Given the description of an element on the screen output the (x, y) to click on. 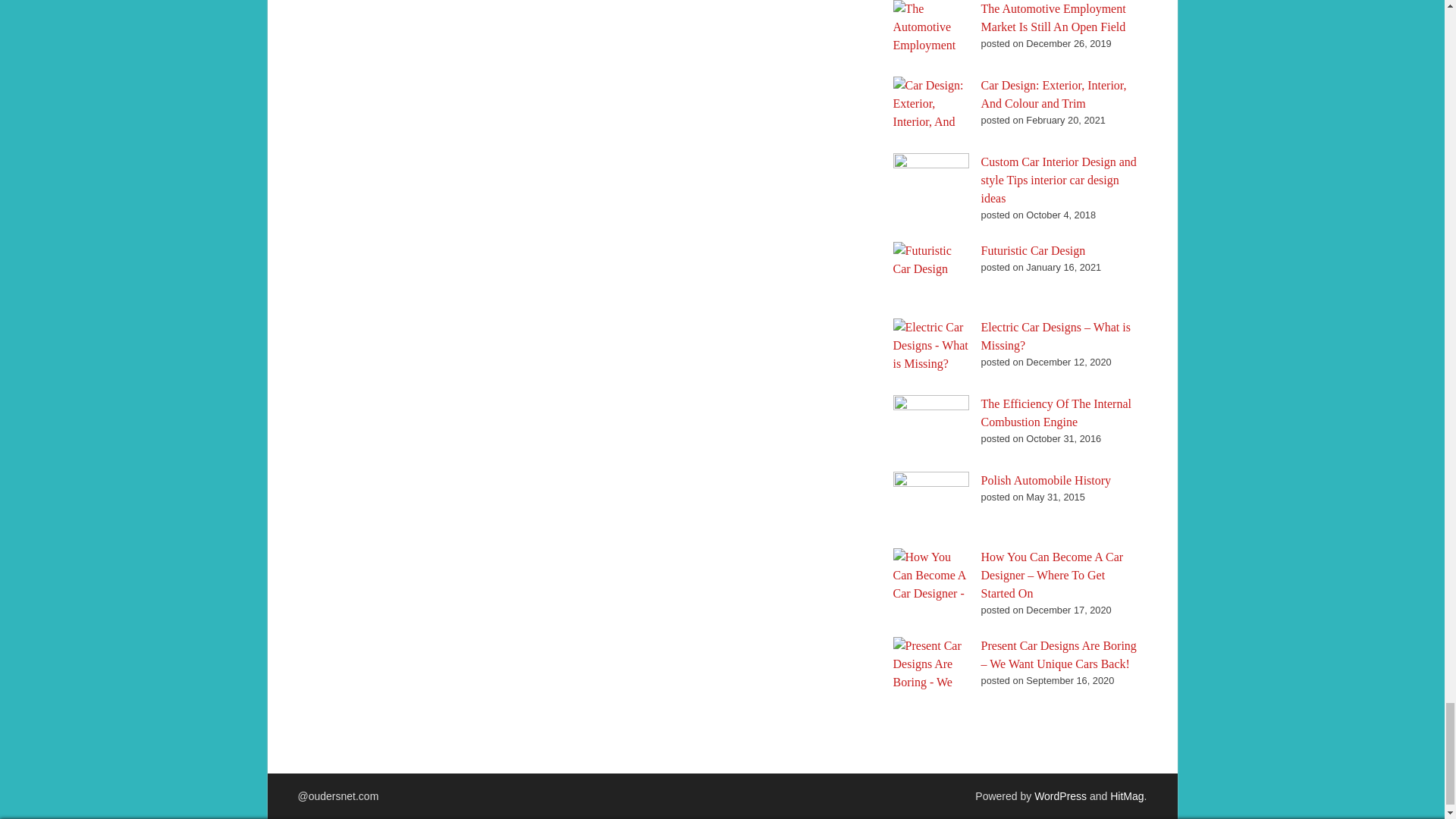
HitMag WordPress Theme (1125, 796)
WordPress (1059, 796)
